Given the description of an element on the screen output the (x, y) to click on. 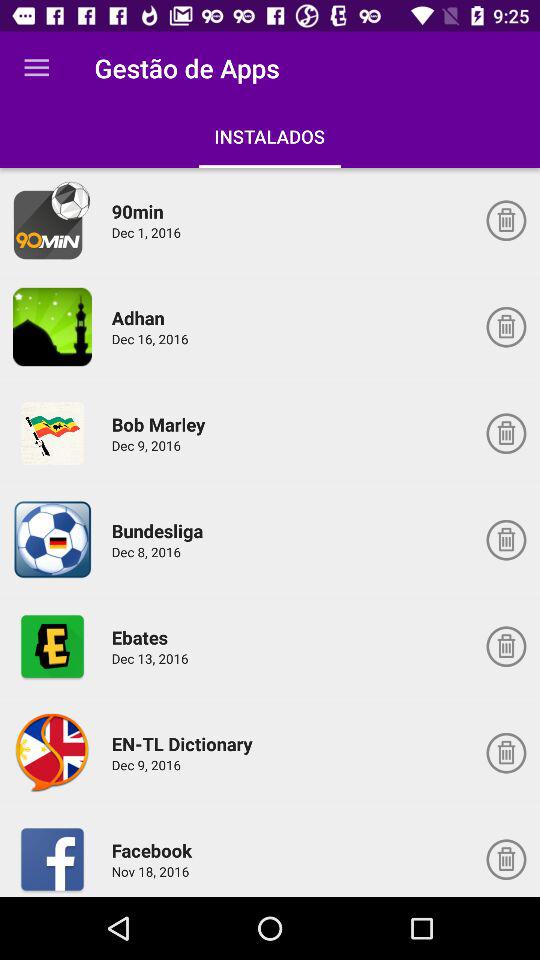
choose ebates (52, 646)
